Given the description of an element on the screen output the (x, y) to click on. 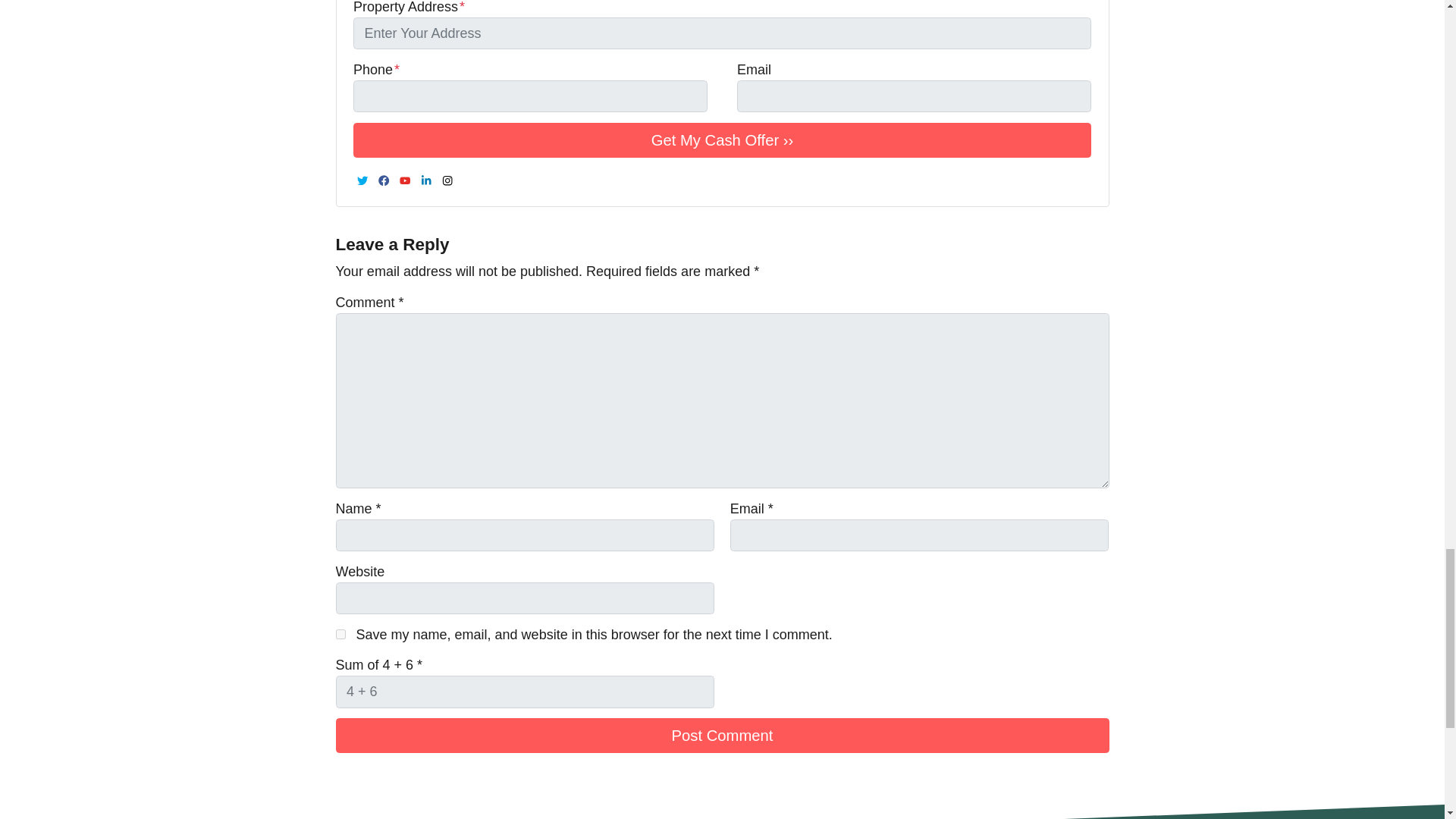
Post Comment (721, 735)
LinkedIn (425, 180)
Post Comment (721, 735)
YouTube (404, 180)
Facebook (383, 180)
Instagram (447, 180)
yes (339, 634)
Twitter (362, 180)
